Given the description of an element on the screen output the (x, y) to click on. 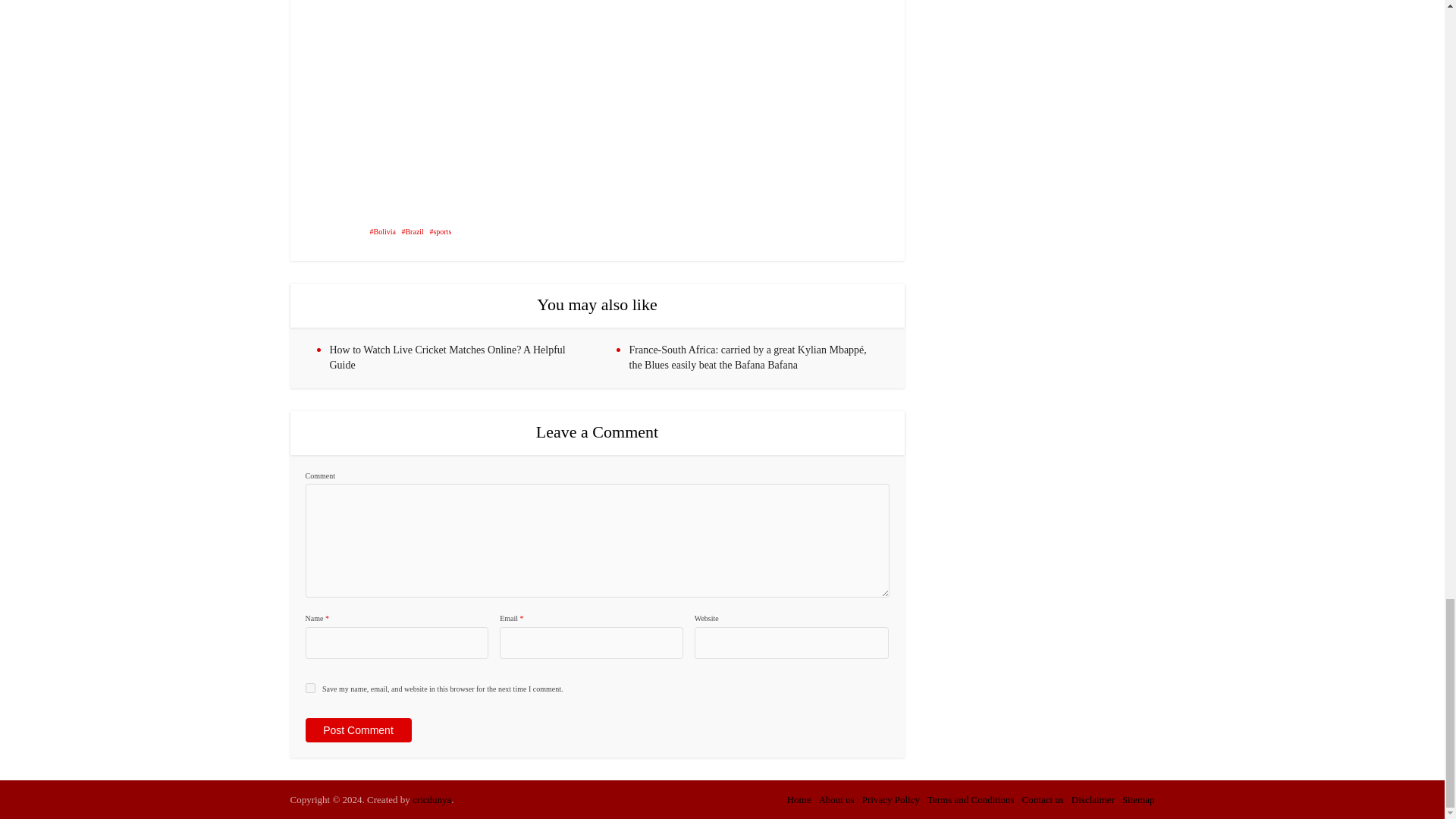
Post Comment (357, 730)
How to Watch Live Cricket Matches Online? A Helpful Guide (446, 357)
Post Comment (357, 730)
yes (309, 687)
Brazil (412, 231)
sports (440, 231)
Bolivia (382, 231)
How to Watch Live Cricket Matches Online? A Helpful Guide (446, 357)
